Given the description of an element on the screen output the (x, y) to click on. 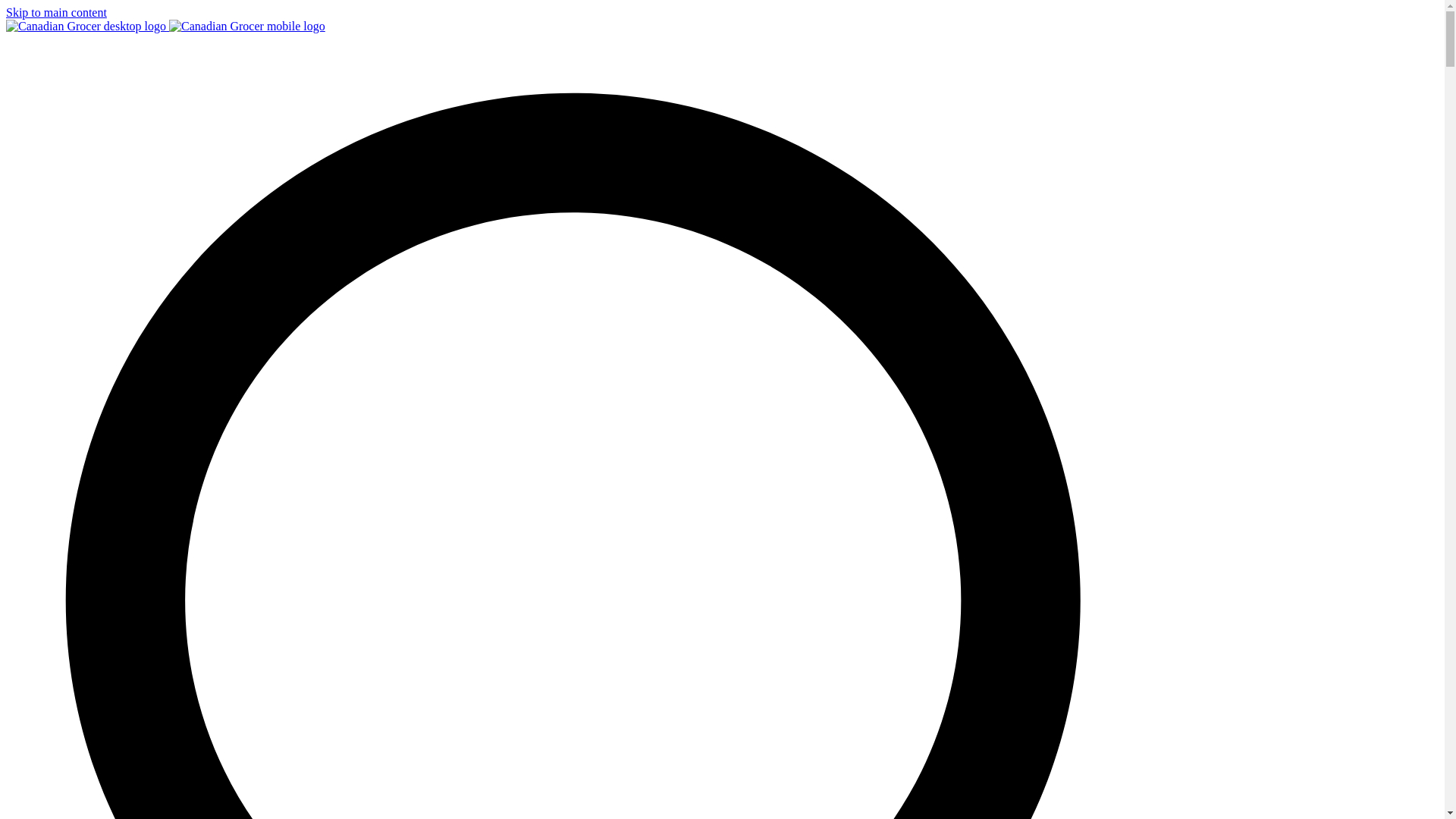
Skip to main content (55, 11)
